Given the description of an element on the screen output the (x, y) to click on. 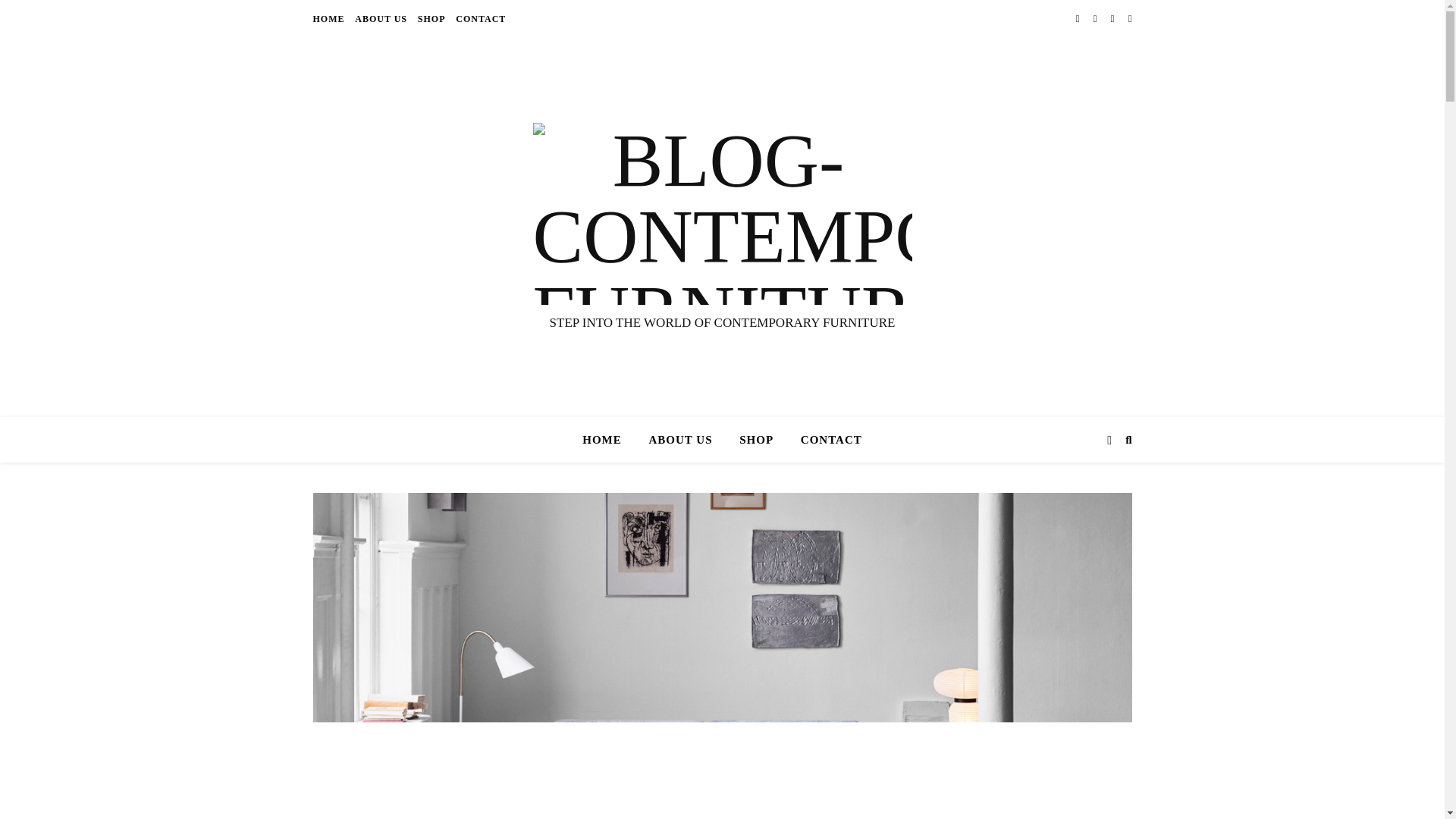
Blog-Contemporary Furniture (721, 213)
ABOUT US (380, 18)
ABOUT US (681, 439)
CONTACT (825, 439)
SHOP (431, 18)
HOME (330, 18)
SHOP (756, 439)
HOME (607, 439)
CONTACT (478, 18)
